Given the description of an element on the screen output the (x, y) to click on. 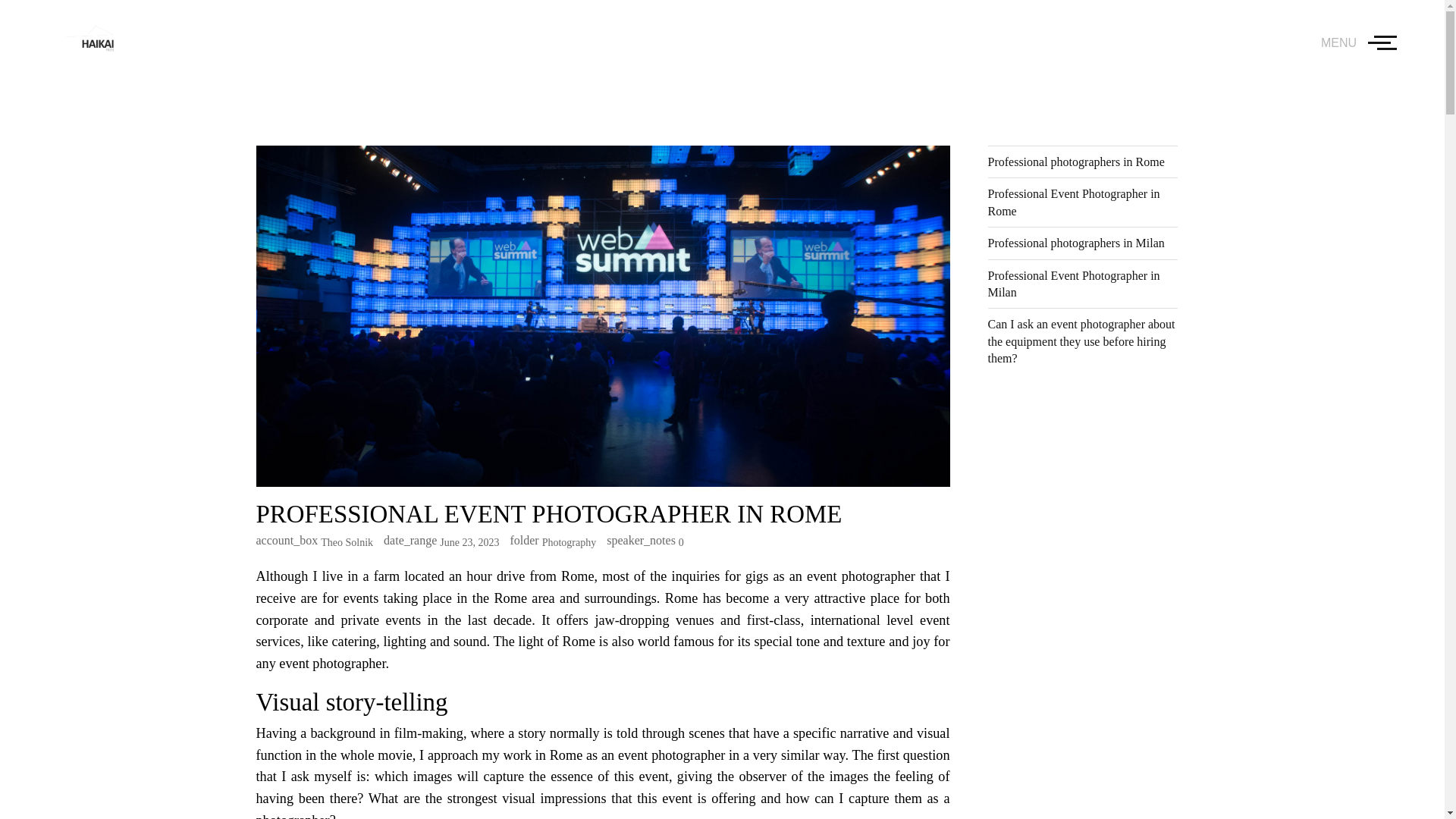
Theo Solnik (346, 542)
June 23, 2023 (469, 542)
Professional photographers in Rome (1075, 161)
Photography (568, 542)
MENU (1358, 43)
Posts by Theo Solnik (346, 542)
Professional Event Photographer in Rome (1072, 202)
